Given the description of an element on the screen output the (x, y) to click on. 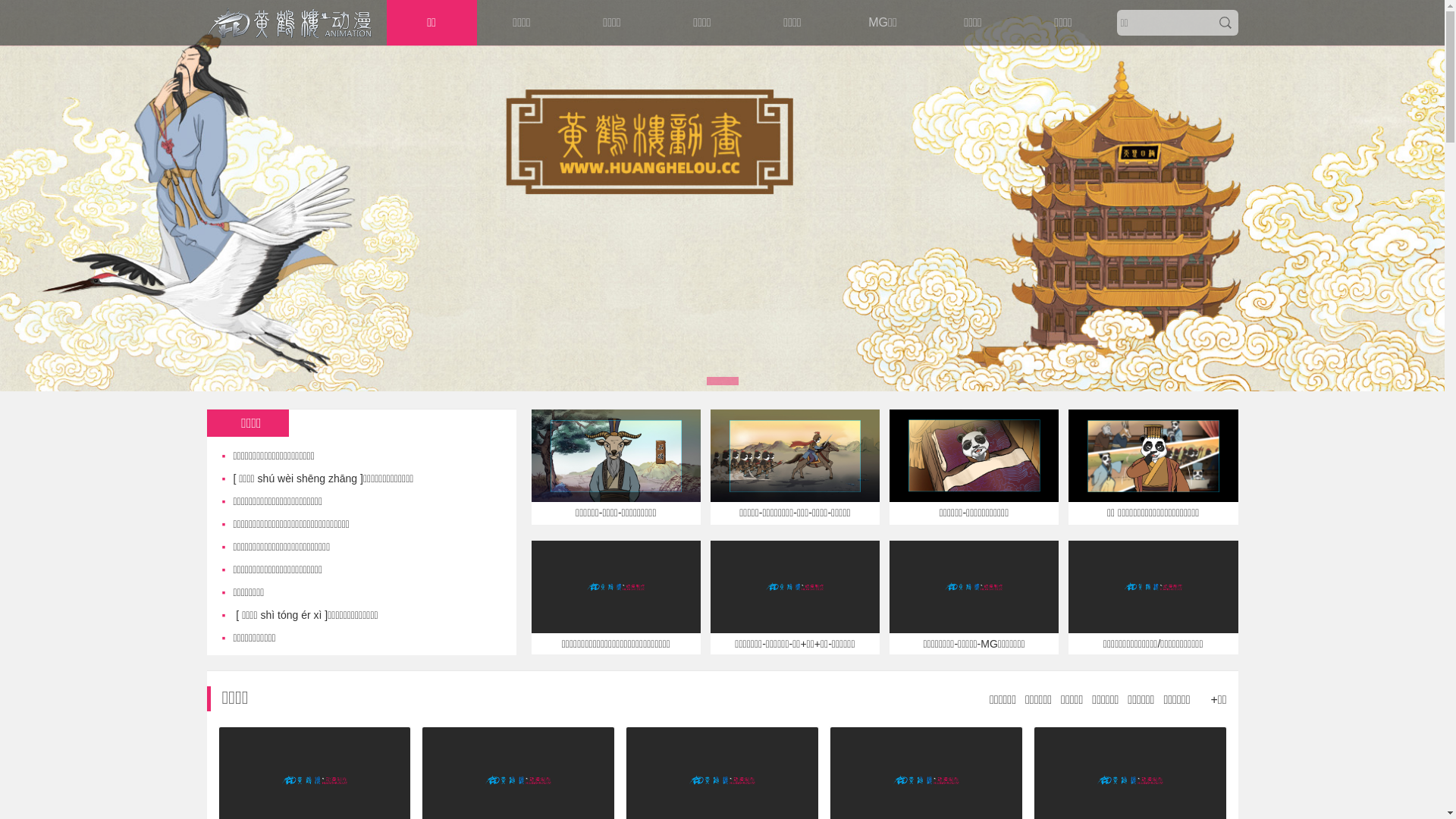
so Element type: text (1224, 22)
